Given the description of an element on the screen output the (x, y) to click on. 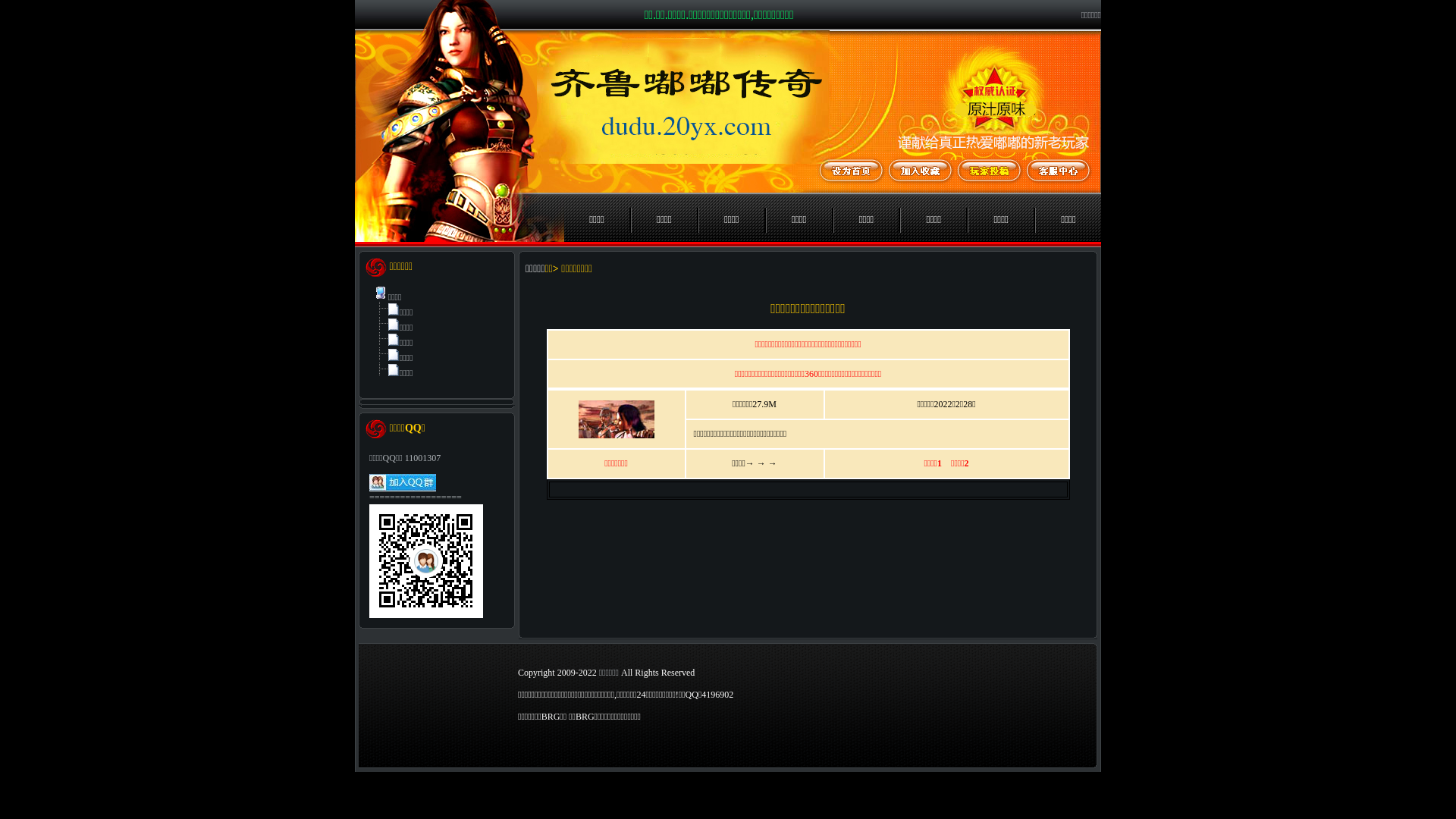
11001307 Element type: text (422, 457)
